Given the description of an element on the screen output the (x, y) to click on. 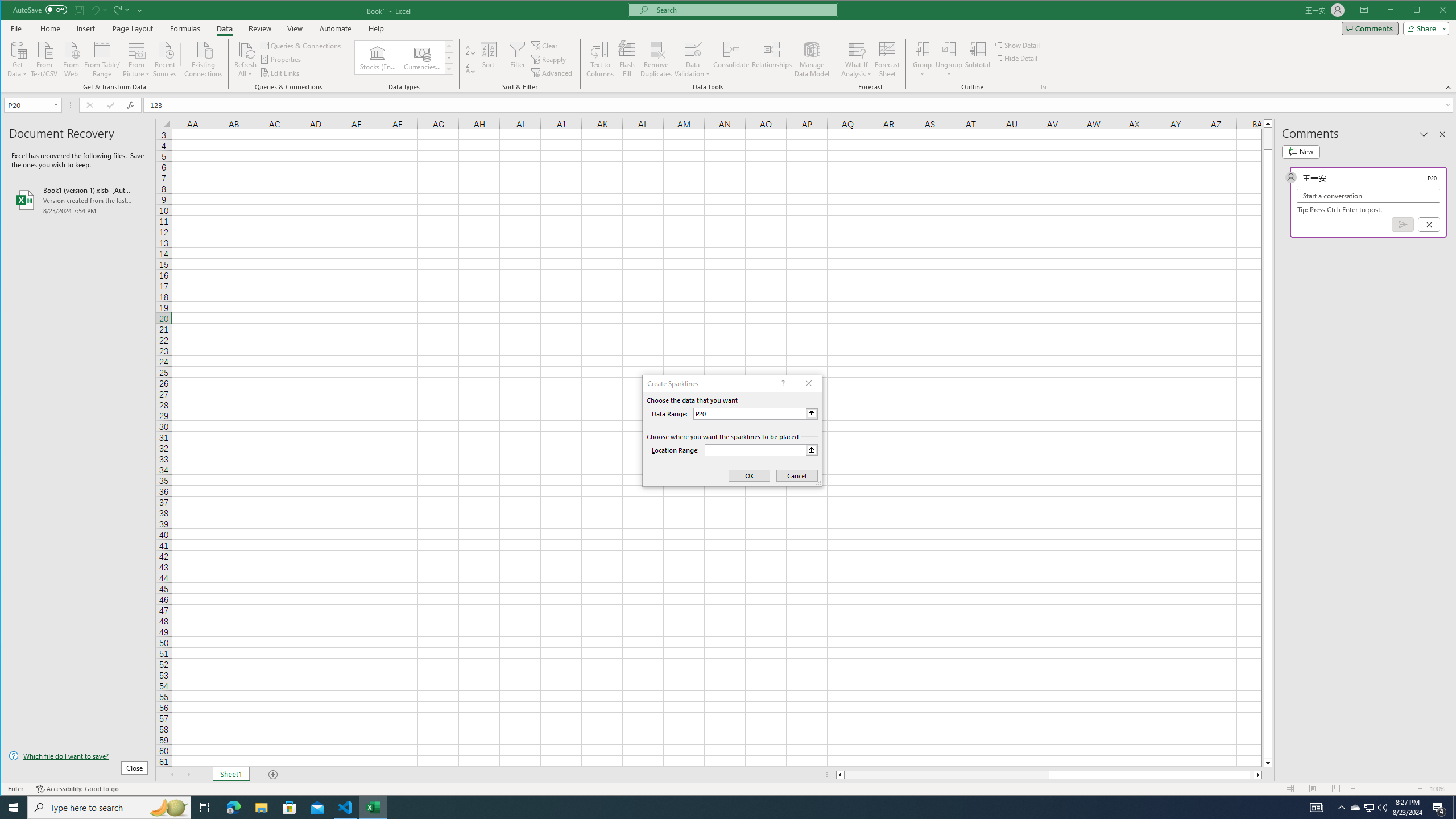
From Table/Range (102, 57)
Sort Largest to Smallest (470, 68)
Ungroup... (948, 48)
From Web (70, 57)
Sort Smallest to Largest (470, 49)
Hide Detail (1016, 57)
Microsoft search (742, 10)
